Given the description of an element on the screen output the (x, y) to click on. 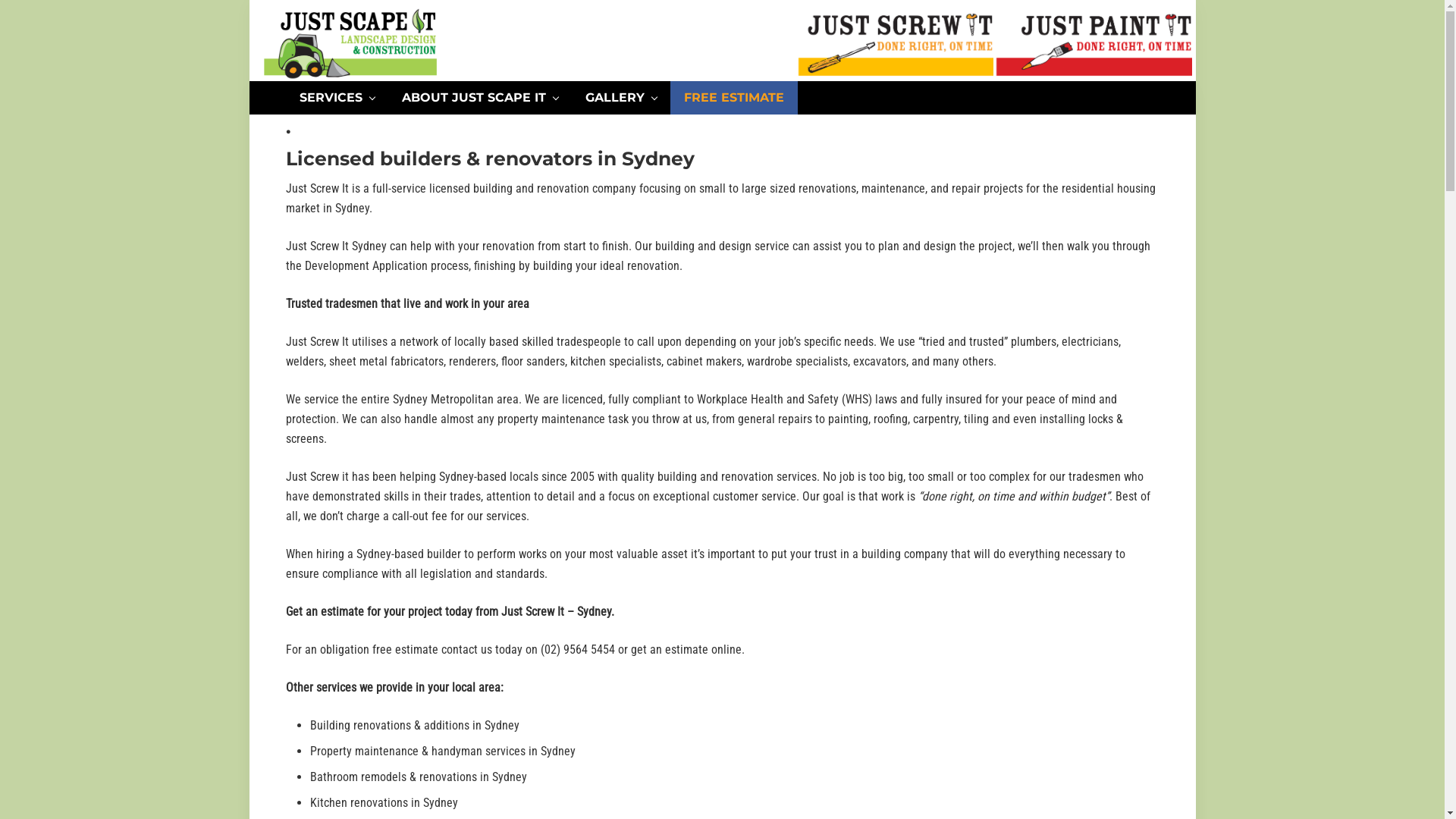
SERVICES Element type: text (336, 97)
Skip to primary navigation Element type: text (248, 0)
GALLERY Element type: text (620, 97)
ABOUT JUST SCAPE IT Element type: text (479, 97)
FREE ESTIMATE Element type: text (733, 97)
